Given the description of an element on the screen output the (x, y) to click on. 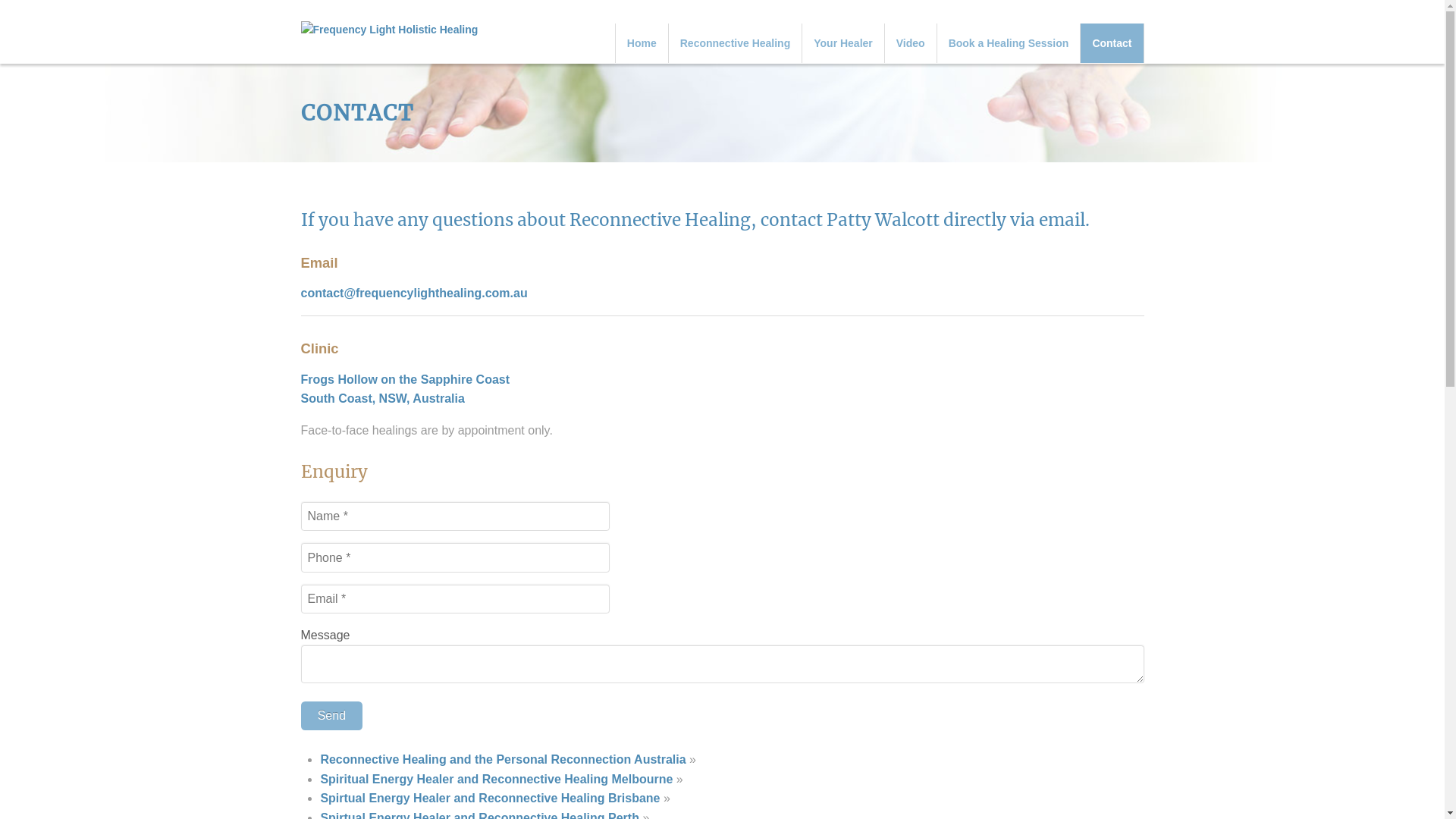
Reconnective Healing and the Personal Reconnection Australia Element type: text (502, 759)
Frogs Hollow on the Sapphire Coast Element type: text (404, 379)
Contact Element type: text (1111, 43)
Your Healer Element type: text (843, 43)
Reconnective Healing Element type: text (735, 43)
Spiritual Energy Healer and Reconnective Healing Melbourne Element type: text (496, 778)
contact@frequencylighthealing.com.au Element type: text (413, 292)
Send Element type: text (331, 715)
Video Element type: text (910, 43)
Spirtual Energy Healer and Reconnective Healing Brisbane Element type: text (489, 797)
Home Element type: text (641, 43)
Book a Healing Session Element type: text (1008, 43)
Energy Healer and Reconnective Healing Sydney Australia Element type: hover (388, 29)
South Coast, NSW, Australia Element type: text (382, 398)
